Given the description of an element on the screen output the (x, y) to click on. 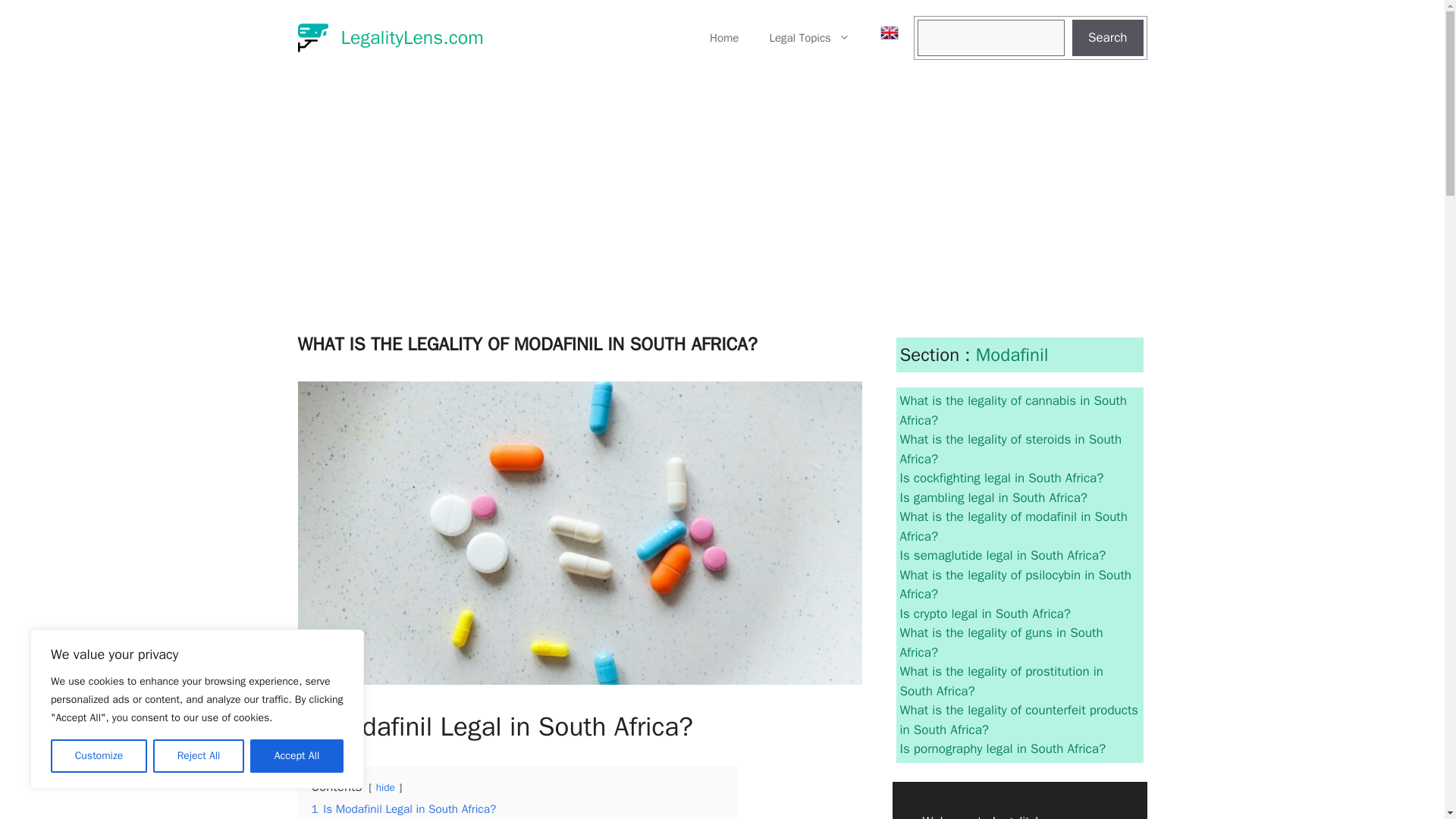
Legal Topics (809, 37)
Search (1106, 37)
LegalityLens.com (411, 37)
Accept All (296, 756)
hide (384, 787)
1 Is Modafinil Legal in South Africa? (403, 808)
Customize (98, 756)
Home (724, 37)
Reject All (198, 756)
